Given the description of an element on the screen output the (x, y) to click on. 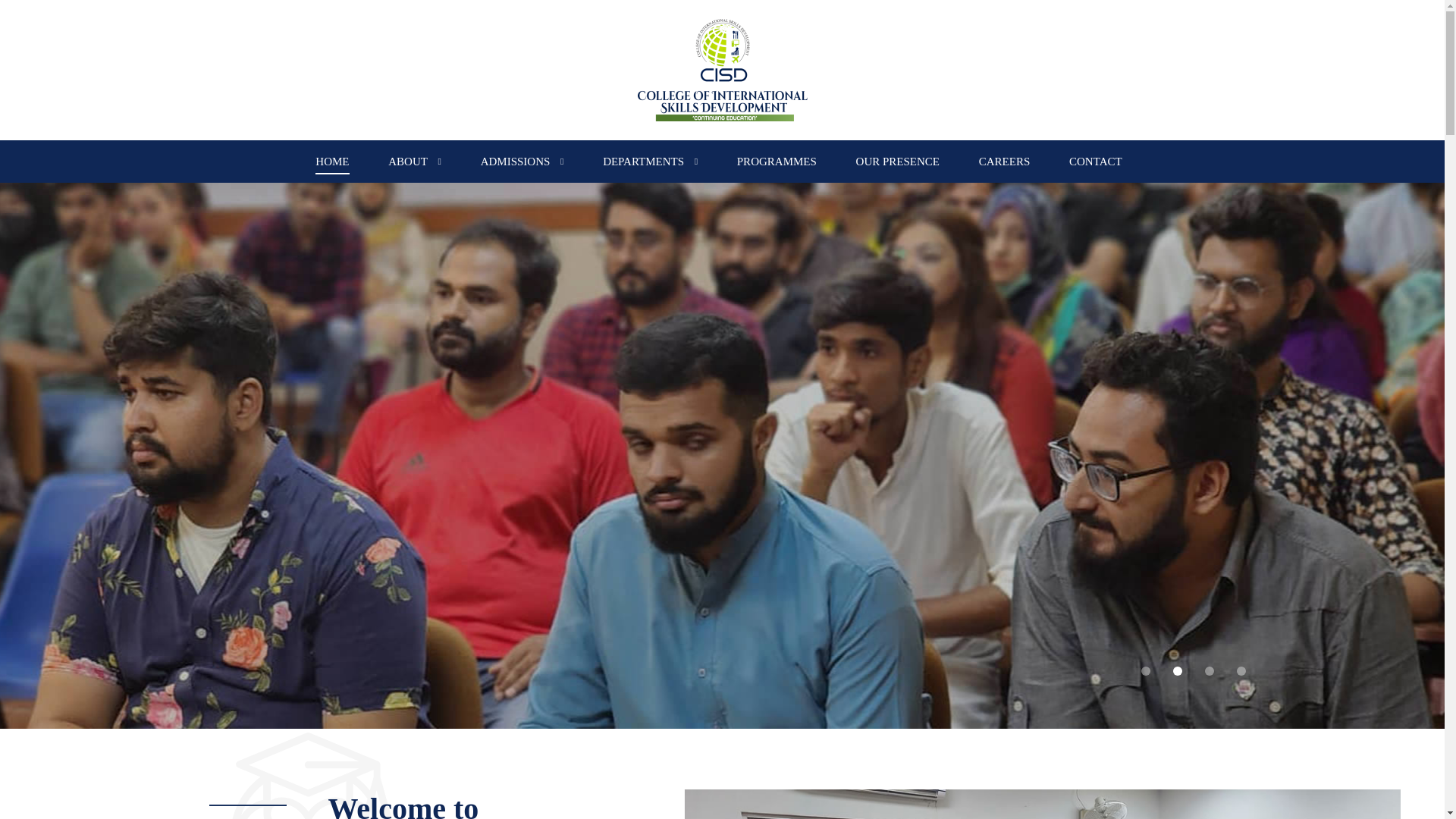
ADMISSIONS (522, 161)
DEPARTMENTS (650, 161)
HOME (331, 161)
CAREERS (1004, 161)
CONTACT (1095, 161)
PROGRAMMES (776, 161)
ABOUT (414, 161)
OUR PRESENCE (898, 161)
